Given the description of an element on the screen output the (x, y) to click on. 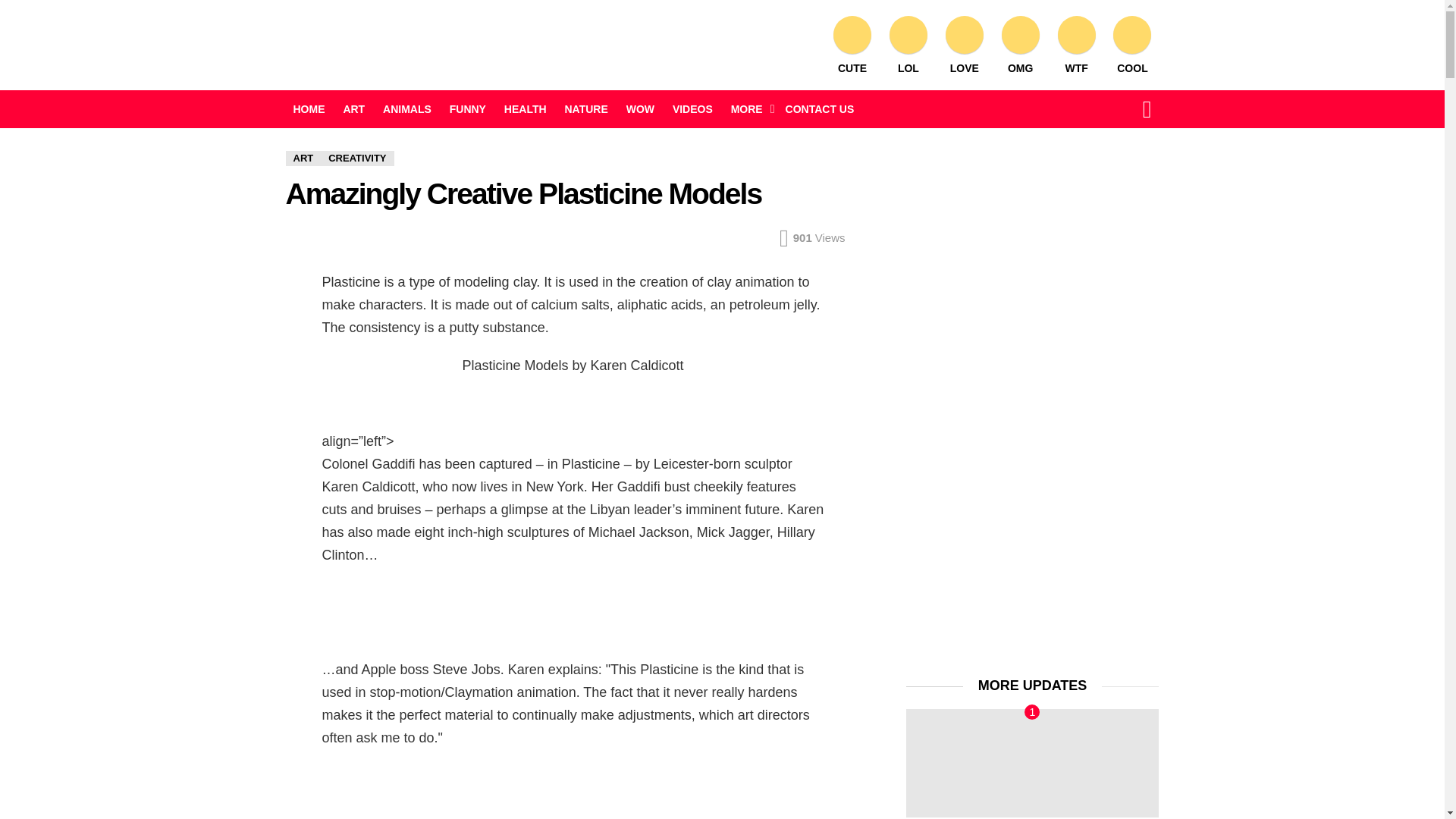
COOL (1131, 45)
OMG (1020, 45)
CONTACT US (819, 108)
HOME (308, 108)
CUTE (852, 45)
NATURE (585, 108)
LOVE (964, 45)
WTF (1076, 45)
VIDEOS (692, 108)
FUNNY (467, 108)
MORE (748, 108)
ART (353, 108)
WOW (640, 108)
ANIMALS (407, 108)
LOL (908, 45)
